Given the description of an element on the screen output the (x, y) to click on. 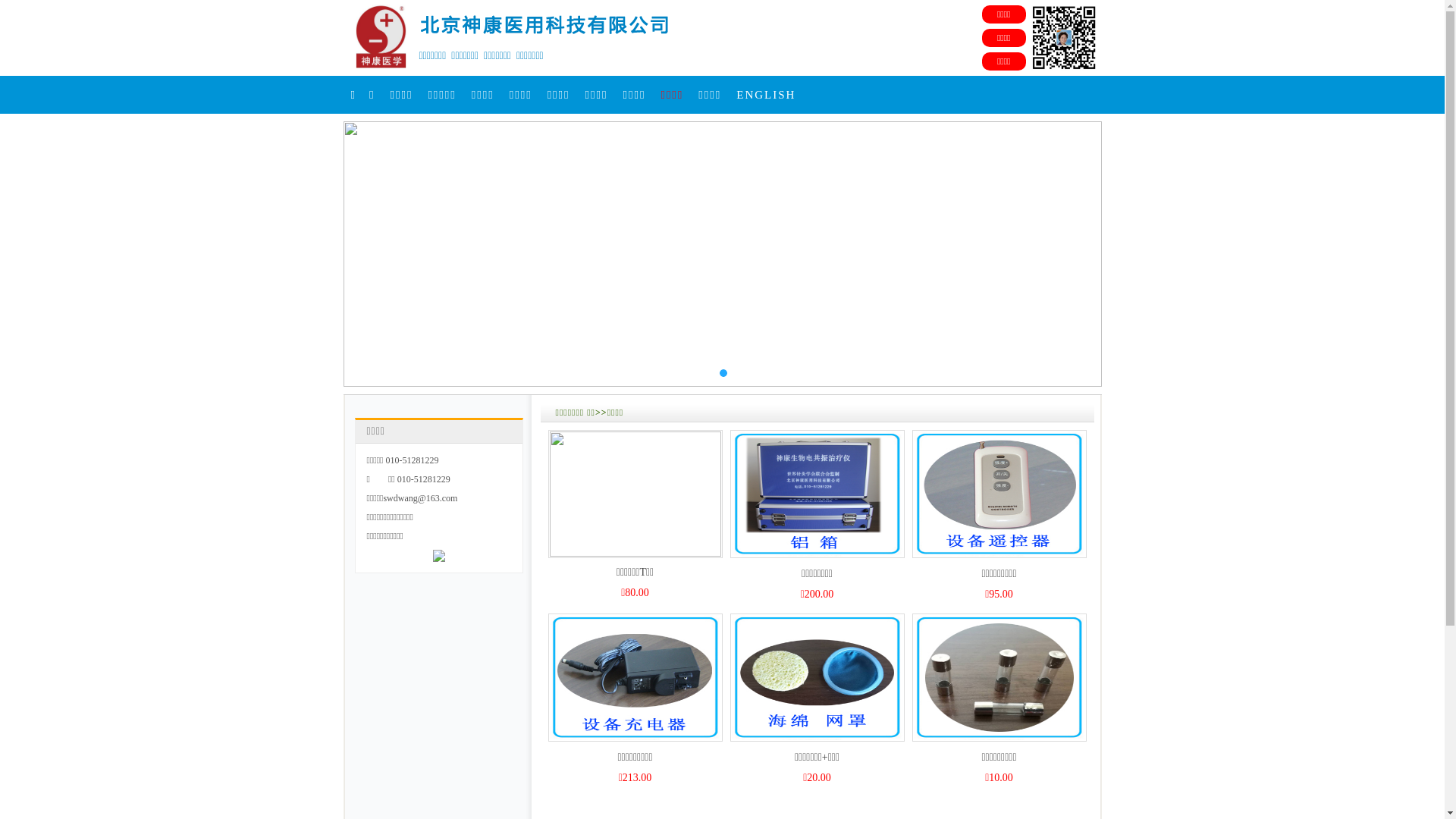
ENGLISH Element type: text (765, 94)
